Given the description of an element on the screen output the (x, y) to click on. 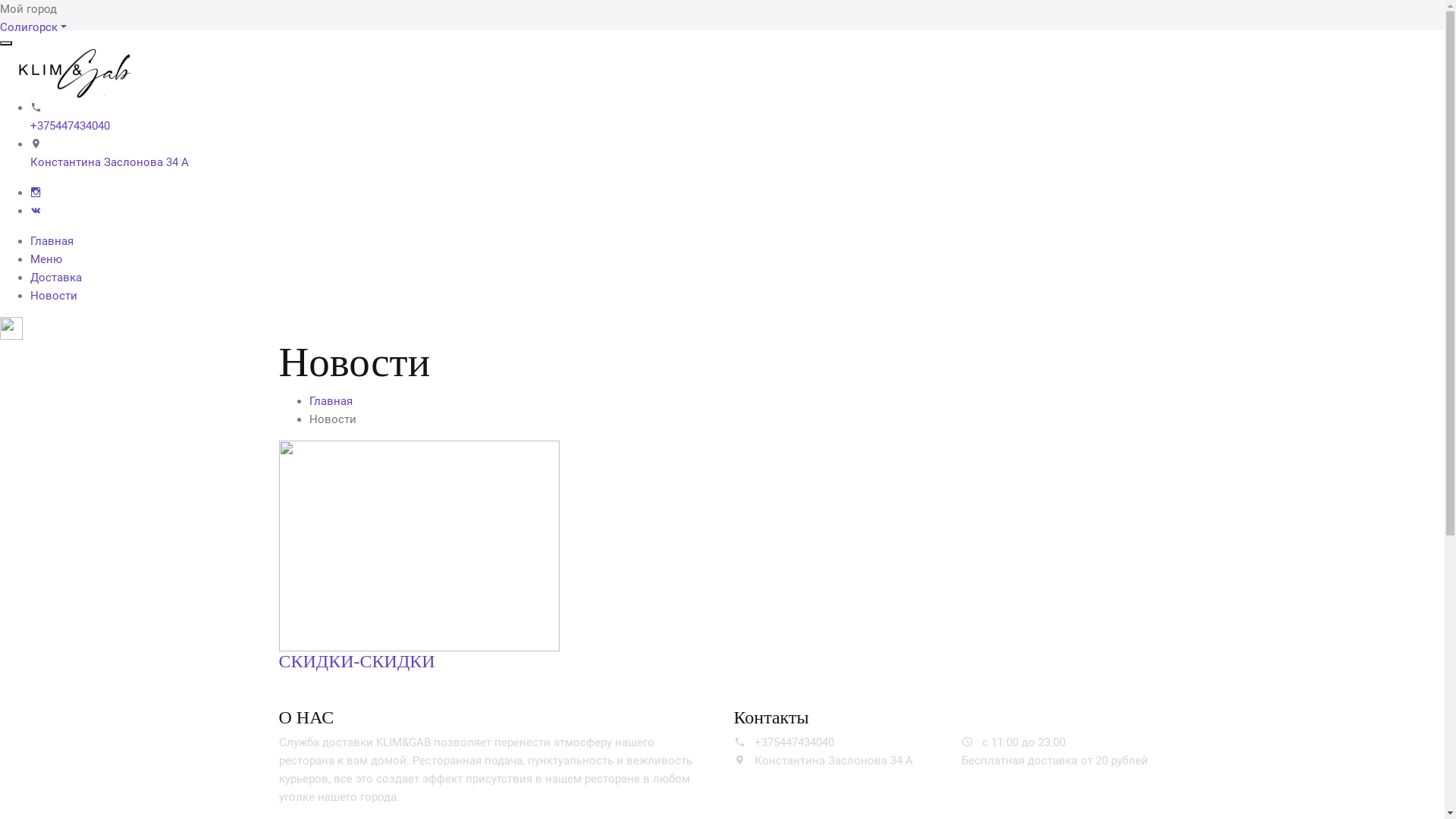
+375447434040 Element type: text (69, 125)
